Given the description of an element on the screen output the (x, y) to click on. 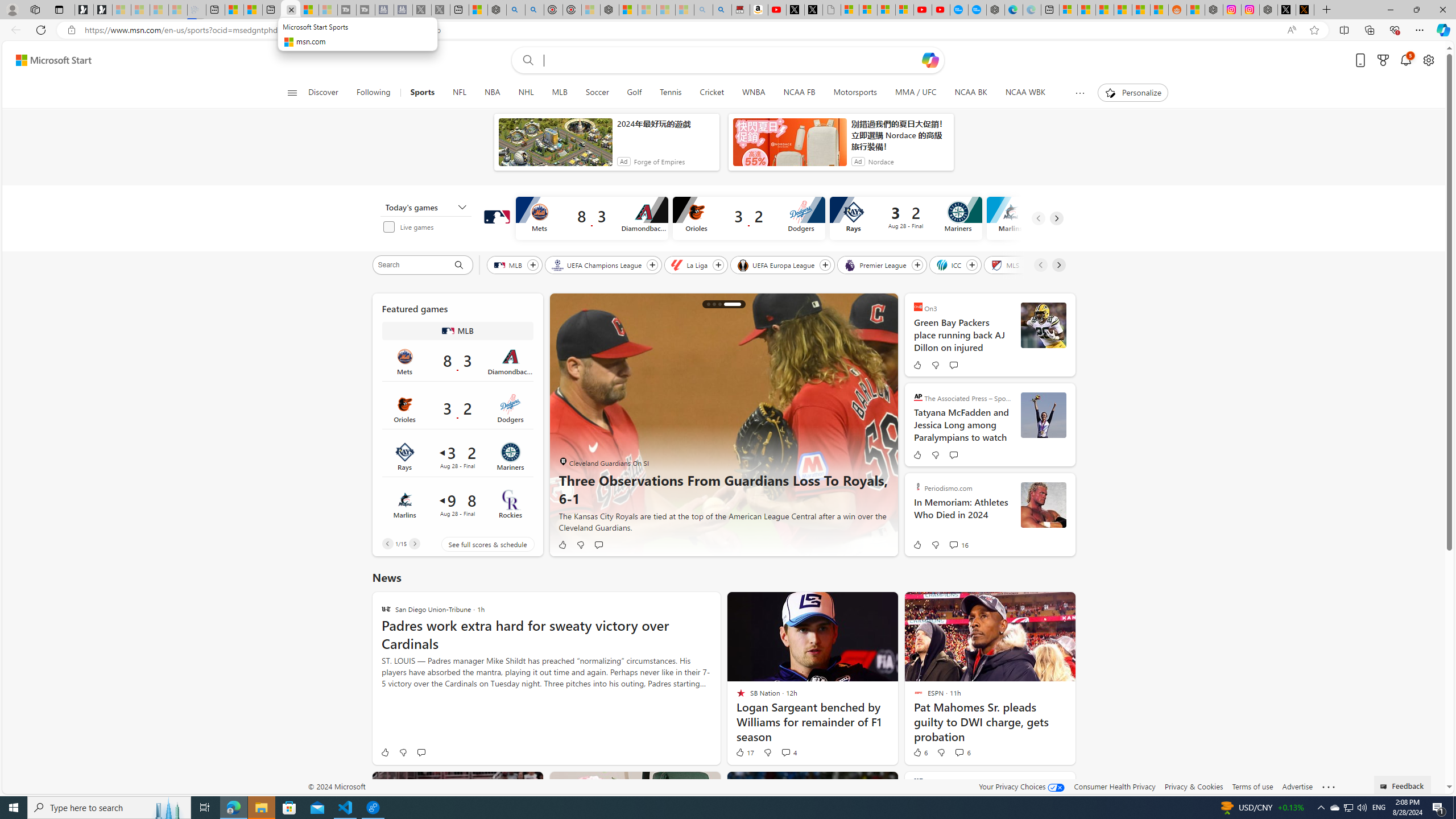
NFL (458, 92)
Hide this story (1040, 784)
poe - Search (515, 9)
Three Observations From Guardians Loss To Royals, 6-1</img (723, 424)
NCAA WBK (1024, 92)
Three Observations From Guardians Loss To Royals, 6-1 (732, 304)
NCAA BK (969, 92)
Marlins 9 vs Rockies 8Final Date Aug 28 (456, 504)
